Given the description of an element on the screen output the (x, y) to click on. 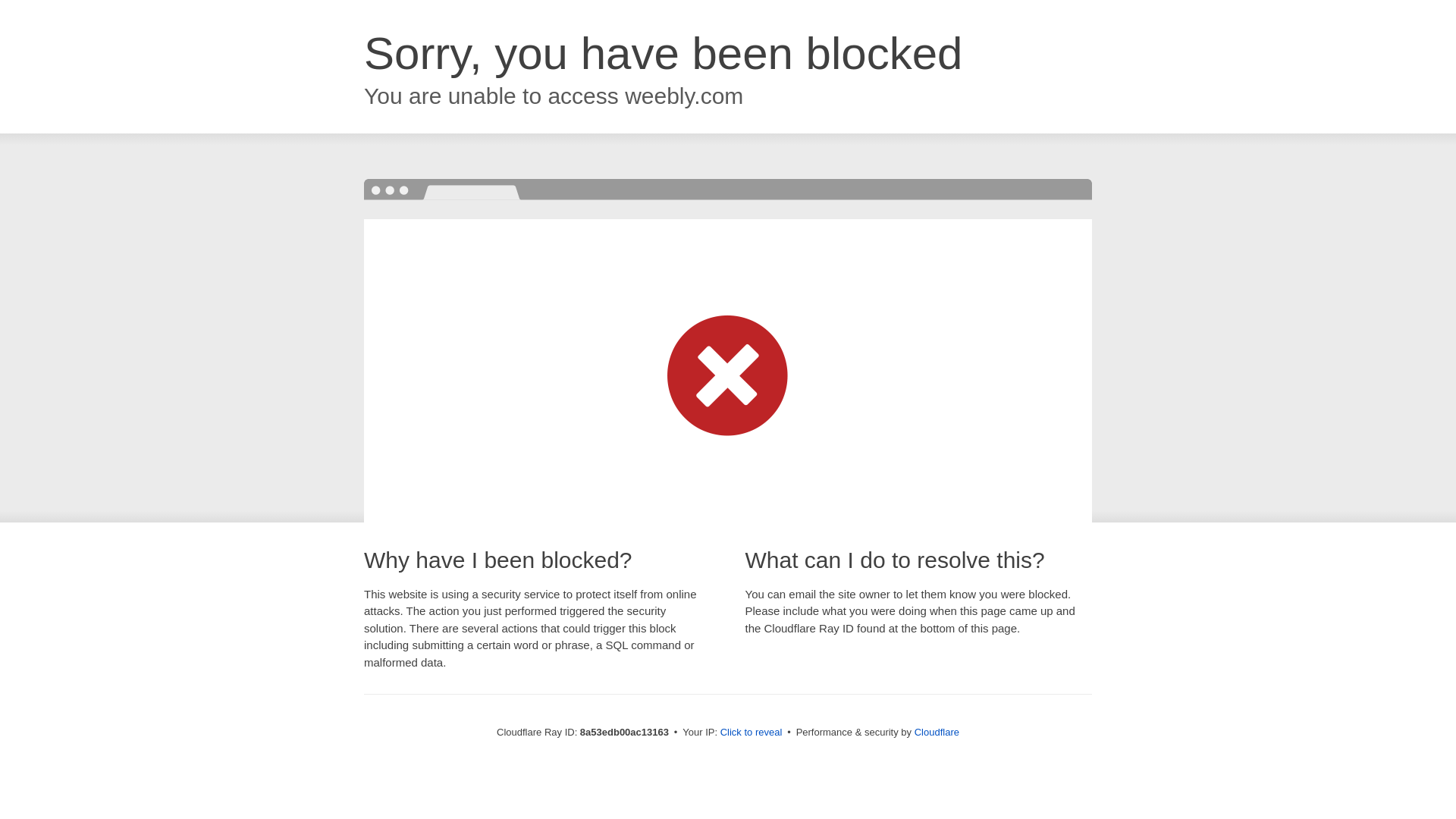
Cloudflare (936, 731)
Click to reveal (751, 732)
